Given the description of an element on the screen output the (x, y) to click on. 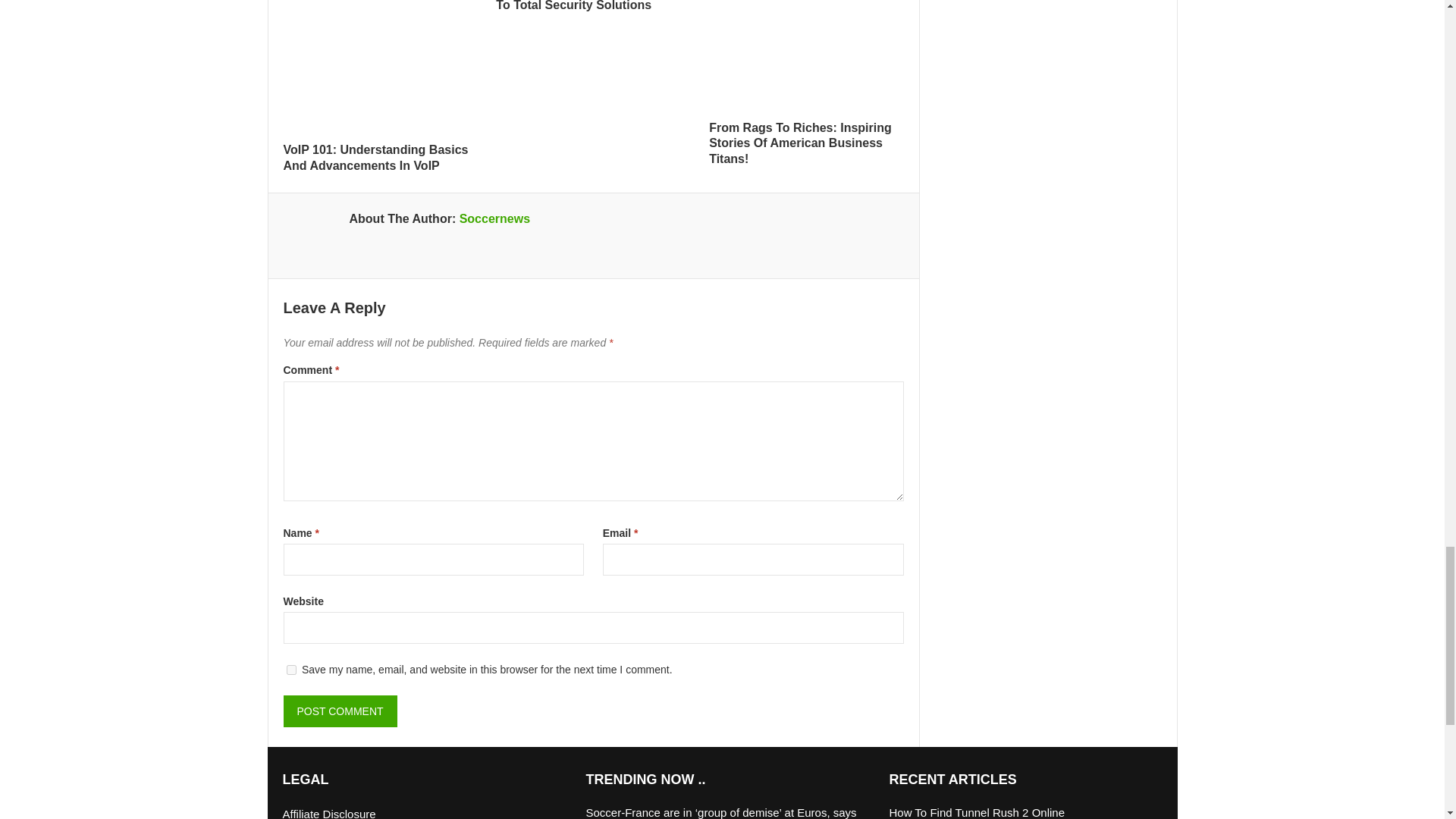
Post Comment (340, 711)
yes (291, 669)
